Given the description of an element on the screen output the (x, y) to click on. 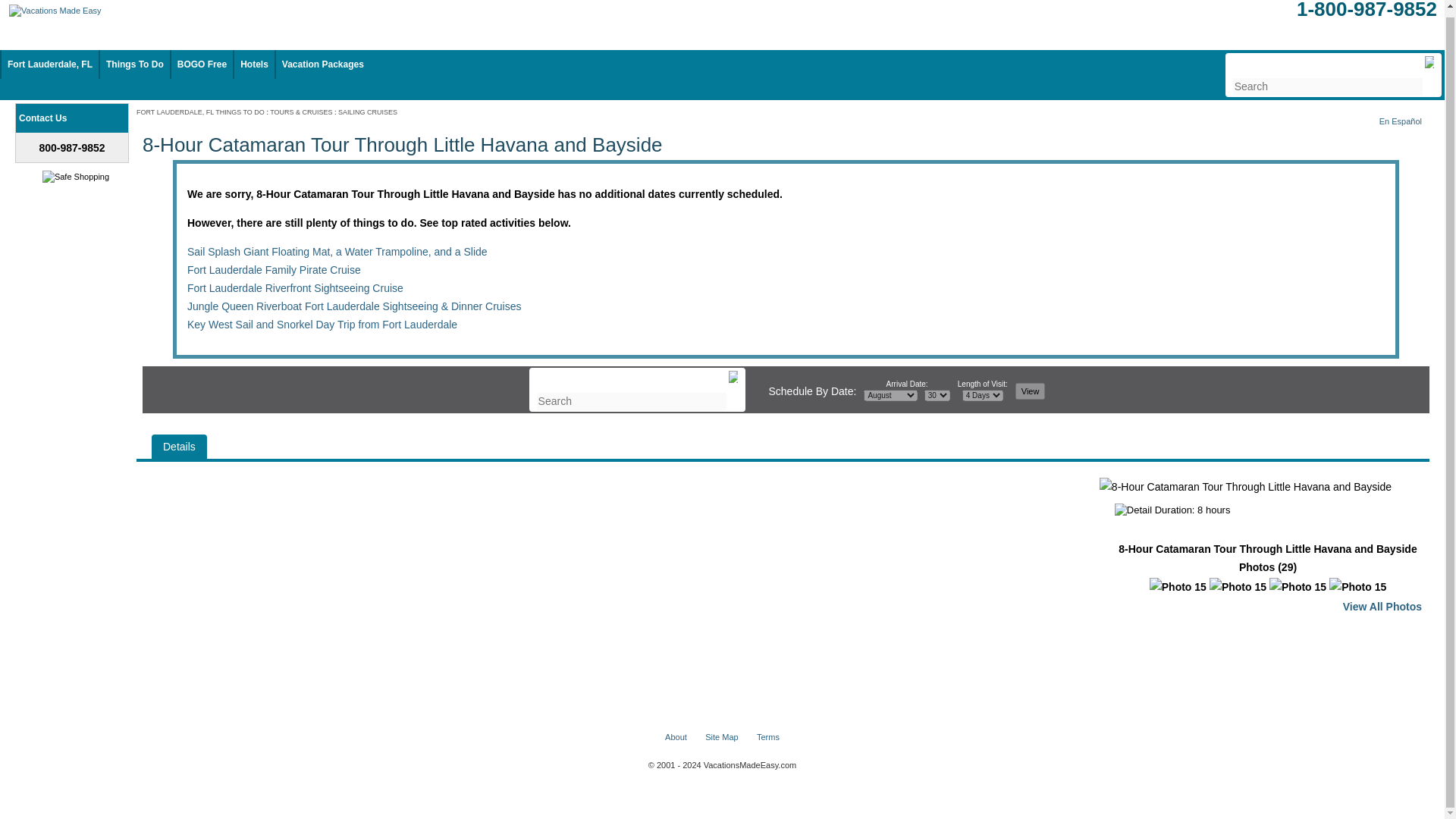
View (1029, 391)
View (1029, 391)
Details (179, 445)
FORT LAUDERDALE, FL THINGS TO DO (200, 111)
Hotels (253, 63)
Fort Lauderdale Riverfront Sightseeing Cruise (295, 287)
Fort Lauderdale, FL (50, 63)
Fort Lauderdale Family Pirate Cruise (274, 269)
View All Photos (1382, 606)
Site Map (721, 737)
